Given the description of an element on the screen output the (x, y) to click on. 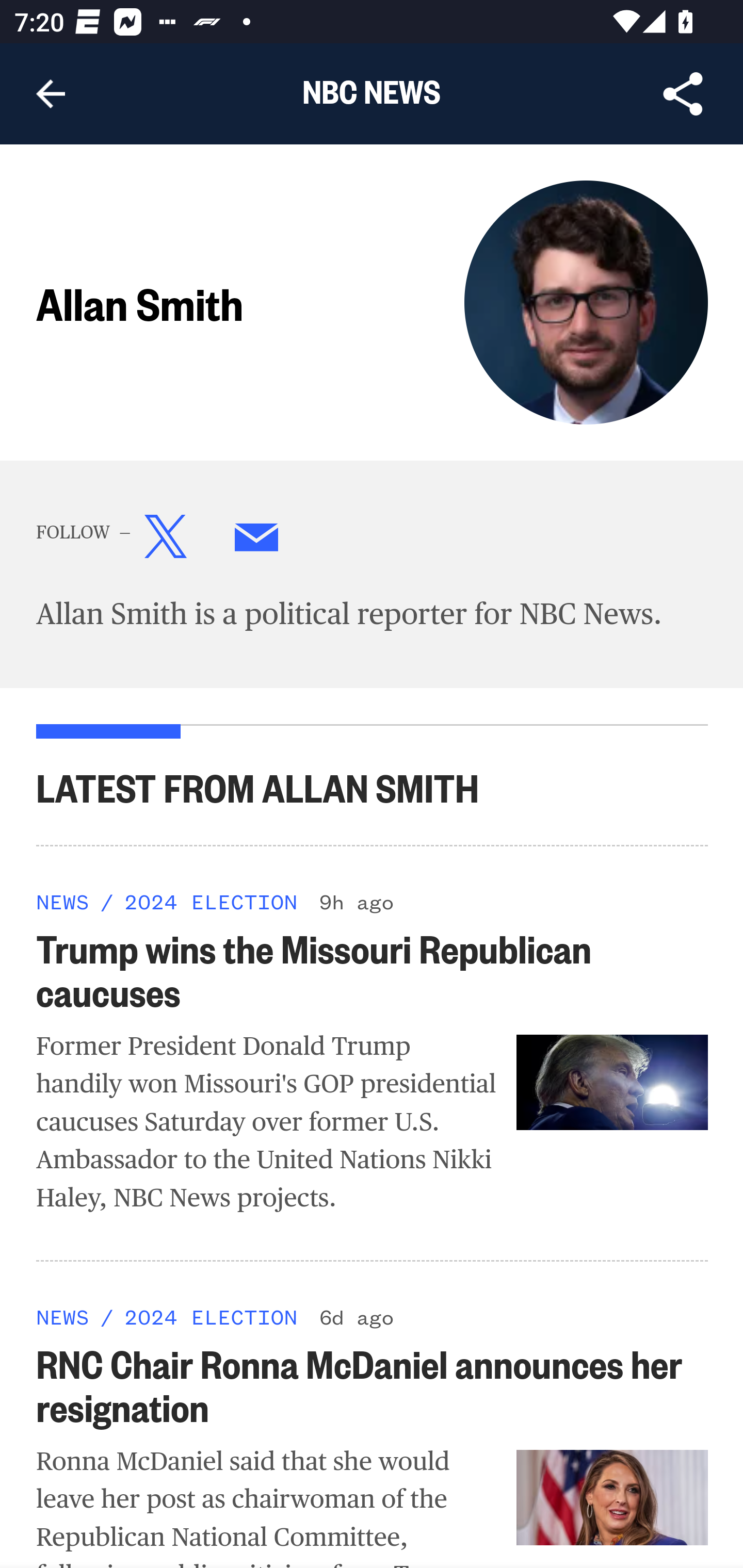
Navigate up (50, 93)
Share Article, button (683, 94)
 (165, 540)
 (256, 540)
NEWS NEWS NEWS (63, 900)
2024 ELECTION 2024 ELECTION 2024 ELECTION (209, 900)
Trump wins the Missouri Republican caucuses (372, 968)
trump-wins-missouri-republican-caucuses-rcna140420 (612, 1081)
NEWS NEWS NEWS (63, 1315)
2024 ELECTION 2024 ELECTION 2024 ELECTION (209, 1315)
RNC Chair Ronna McDaniel announces her resignation (372, 1383)
rnc-chair-ronna-mcdaniel-resignation-rcna137347 (612, 1497)
